Given the description of an element on the screen output the (x, y) to click on. 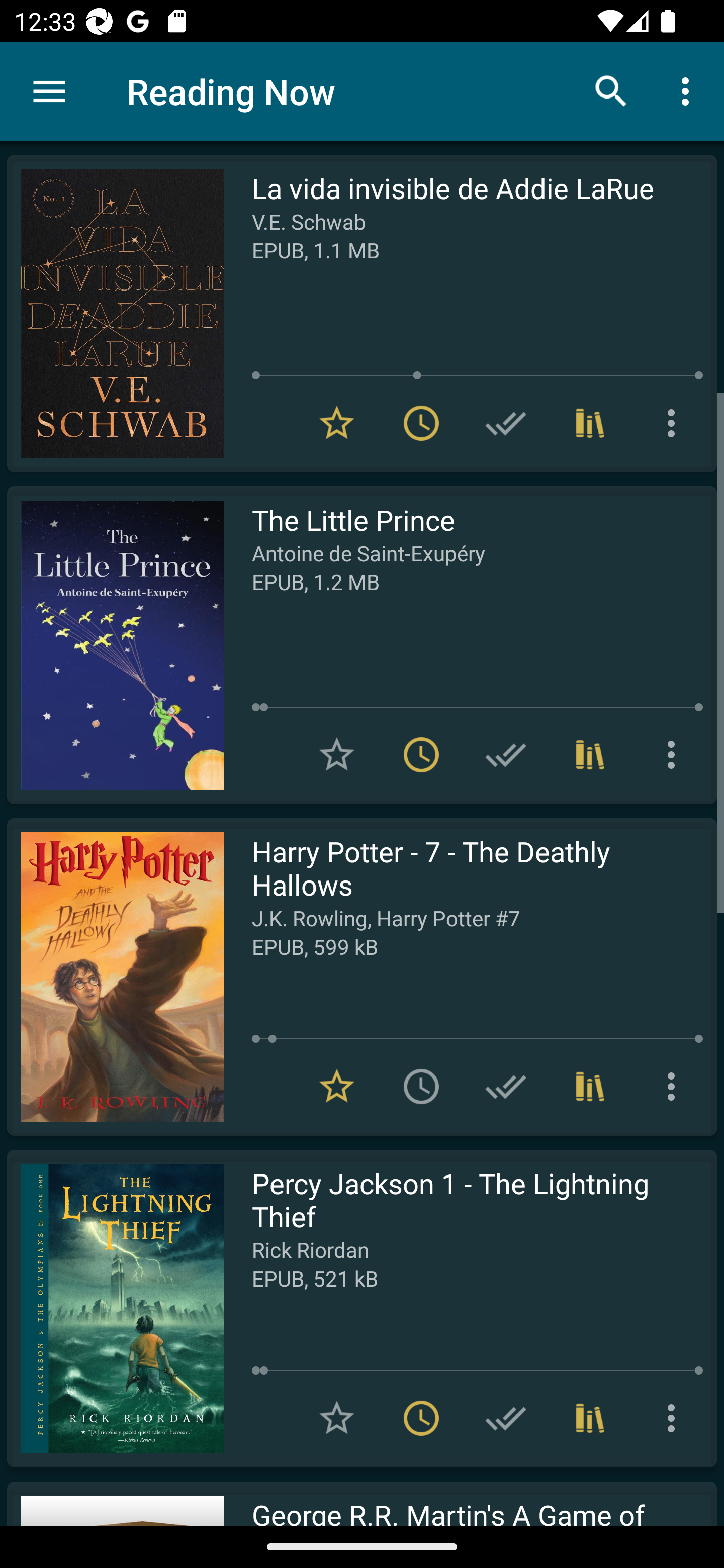
Menu (49, 91)
Search books & documents (611, 90)
More options (688, 90)
Read La vida invisible de Addie LaRue (115, 313)
Remove from Favorites (336, 423)
Remove from To read (421, 423)
Add to Have read (505, 423)
Collections (1) (590, 423)
More options (674, 423)
Read The Little Prince (115, 645)
Add to Favorites (336, 753)
Remove from To read (421, 753)
Add to Have read (505, 753)
Collections (1) (590, 753)
More options (674, 753)
Read Harry Potter - 7 - The Deathly Hallows (115, 976)
Remove from Favorites (336, 1086)
